Given the description of an element on the screen output the (x, y) to click on. 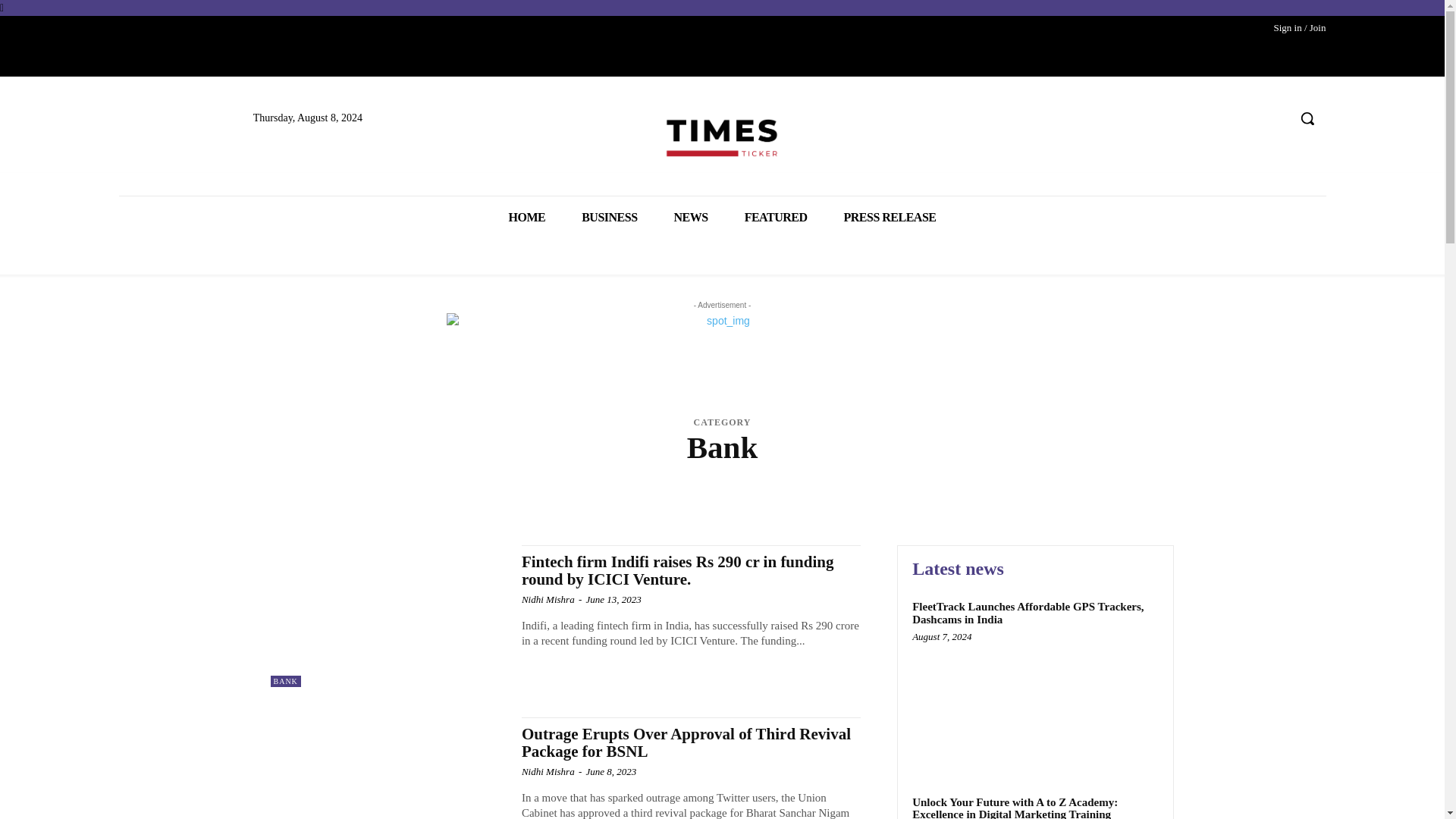
NEWS (691, 217)
BUSINESS (609, 217)
HOME (526, 217)
Nidhi Mishra (548, 599)
FEATURED (775, 217)
